Given the description of an element on the screen output the (x, y) to click on. 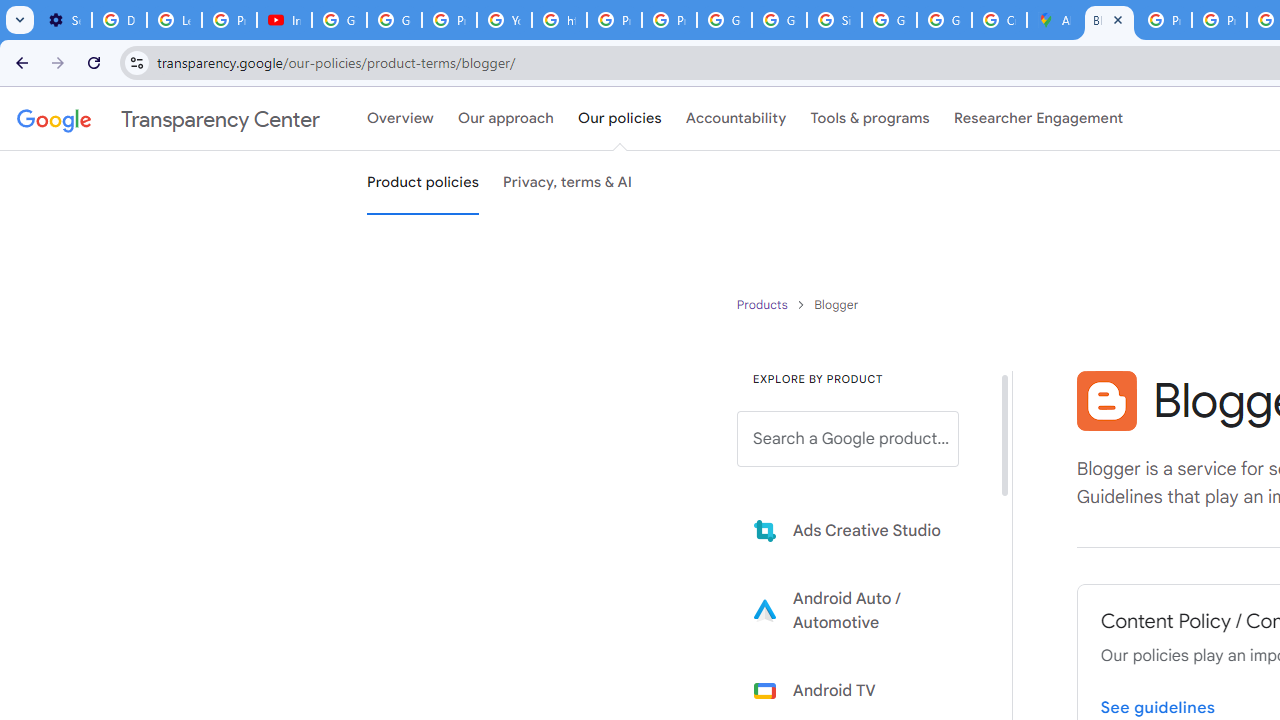
Delete photos & videos - Computer - Google Photos Help (119, 20)
https://scholar.google.com/ (559, 20)
Product policies (763, 304)
Researcher Engagement (1038, 119)
Search a Google product from below list. (847, 439)
Learn more about Android Auto (862, 610)
Our approach (506, 119)
Introduction | Google Privacy Policy - YouTube (284, 20)
Settings - Performance (64, 20)
